Given the description of an element on the screen output the (x, y) to click on. 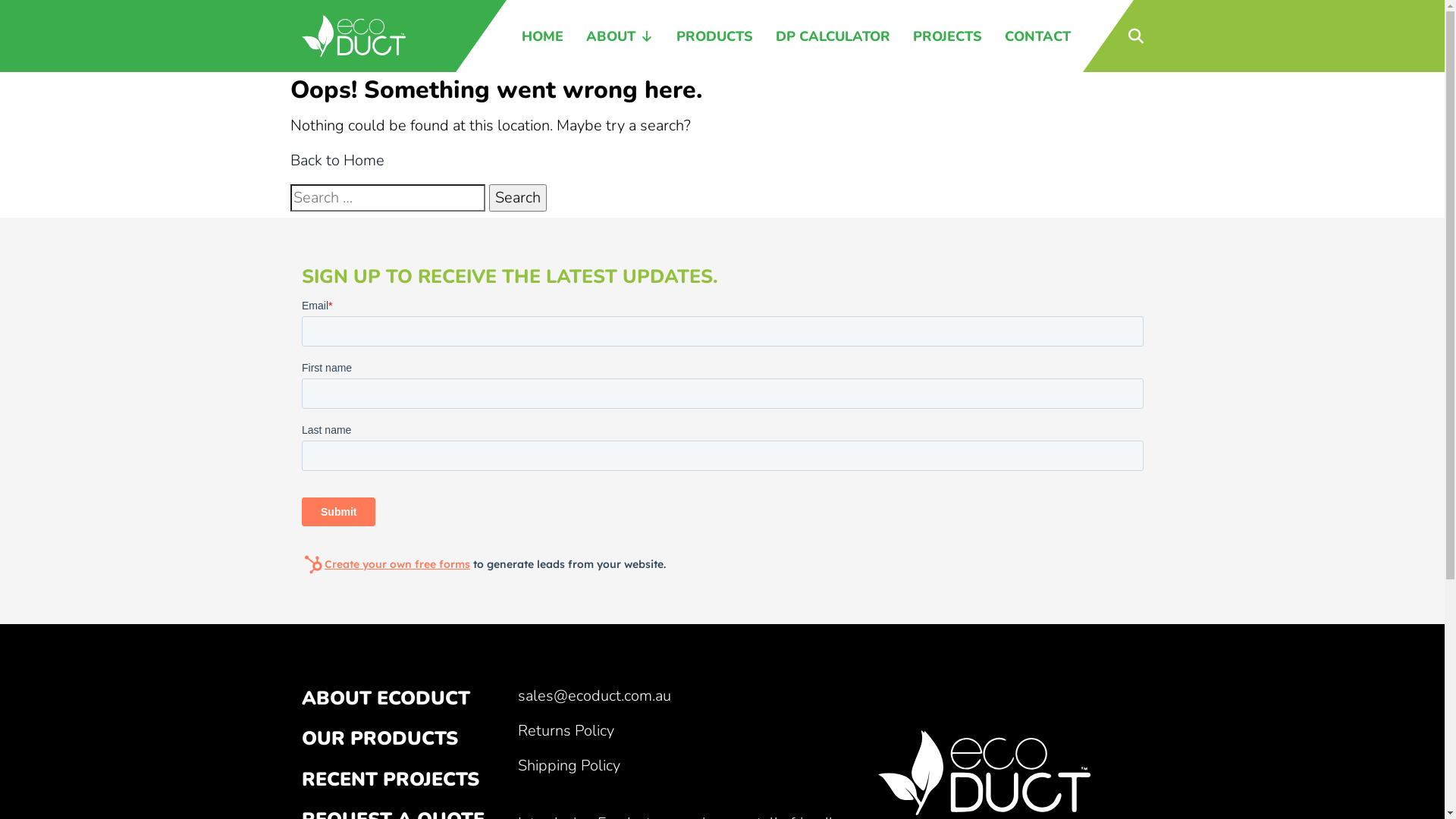
ABOUT Element type: text (618, 36)
PROJECTS Element type: text (947, 36)
HOME Element type: text (542, 36)
Returns Policy Element type: text (565, 730)
Shipping Policy Element type: text (568, 765)
sales@ecoduct.com.au Element type: text (593, 695)
Back to Home Element type: text (336, 160)
Search for Element type: hover (386, 197)
RECENT PROJECTS Element type: text (390, 778)
ABOUT ECODUCT Element type: text (385, 698)
Search Element type: text (517, 197)
PRODUCTS Element type: text (714, 36)
DP CALCULATOR Element type: text (832, 36)
Form 0 Element type: hover (722, 437)
CONTACT Element type: text (1036, 36)
OUR PRODUCTS Element type: text (379, 738)
